Given the description of an element on the screen output the (x, y) to click on. 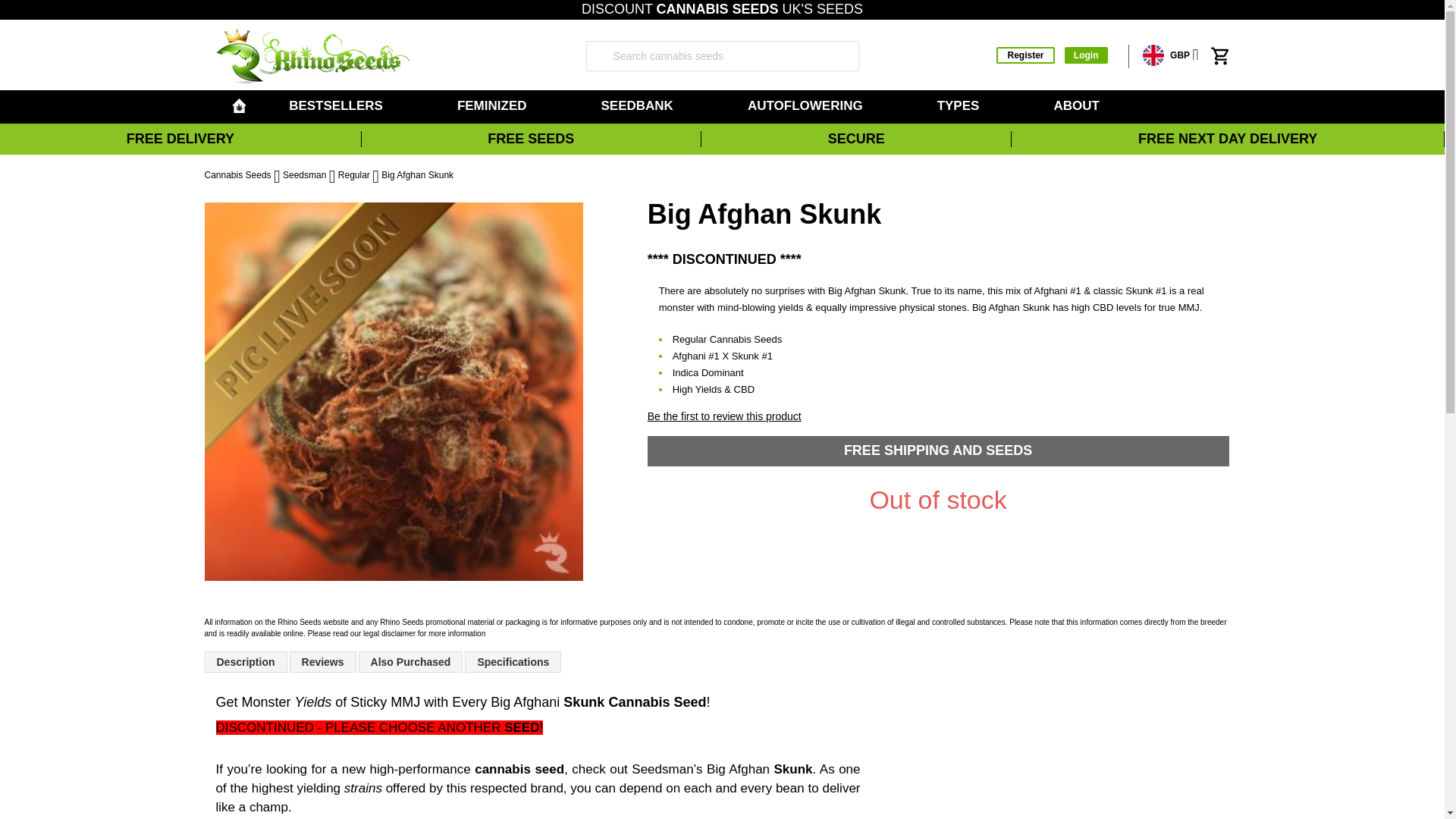
Register (1024, 54)
Login (1086, 54)
SEEDBANK (639, 106)
home (238, 105)
Best Selling Cannabis Seeds (338, 106)
FEMINIZED (494, 106)
BESTSELLERS (338, 106)
Feminized Seeds (494, 106)
